Given the description of an element on the screen output the (x, y) to click on. 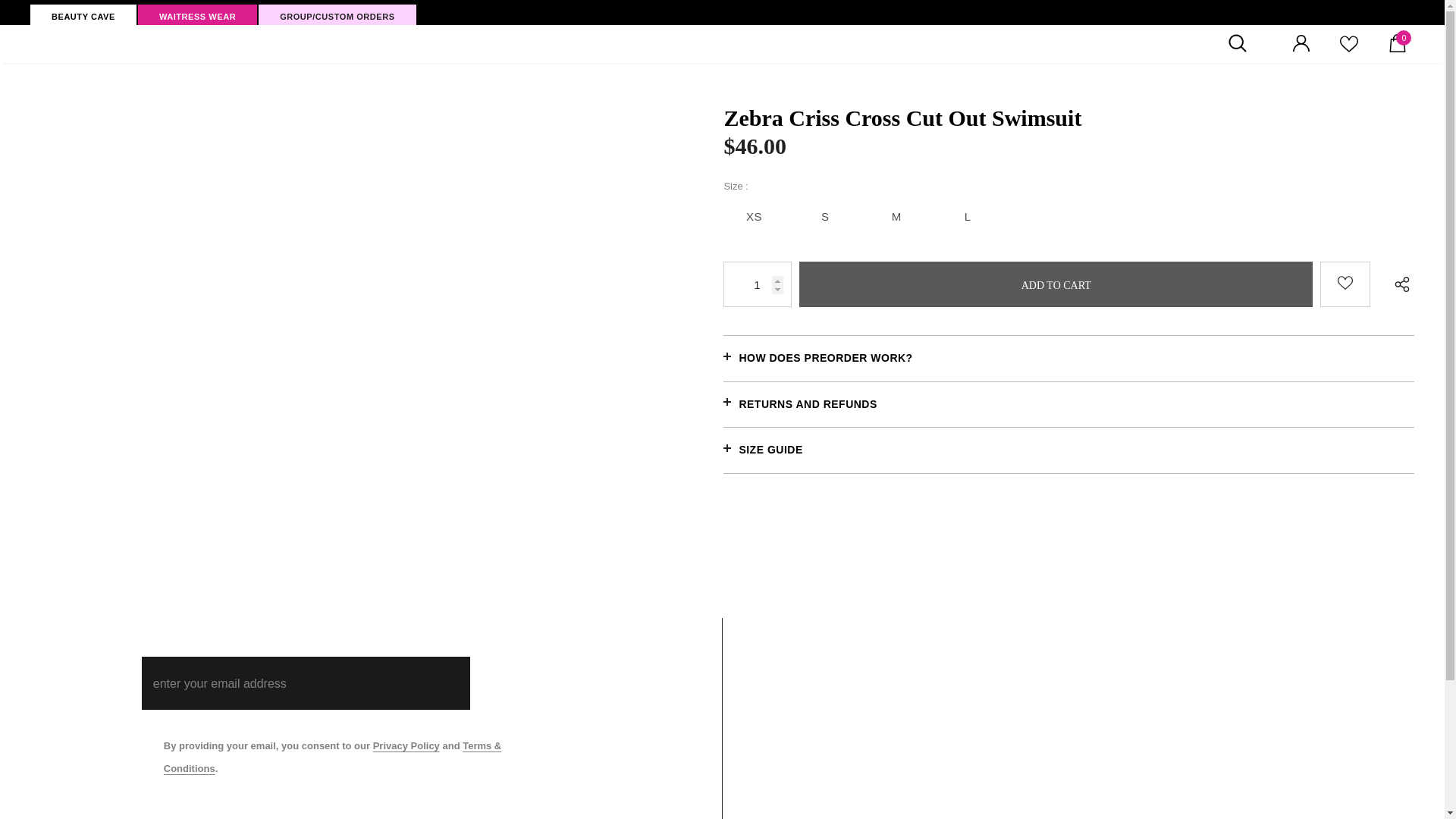
BEAUTY CAVE (83, 15)
WAITRESS WEAR (197, 15)
Add to cart (1056, 284)
Submit (526, 683)
1 (757, 284)
